Given the description of an element on the screen output the (x, y) to click on. 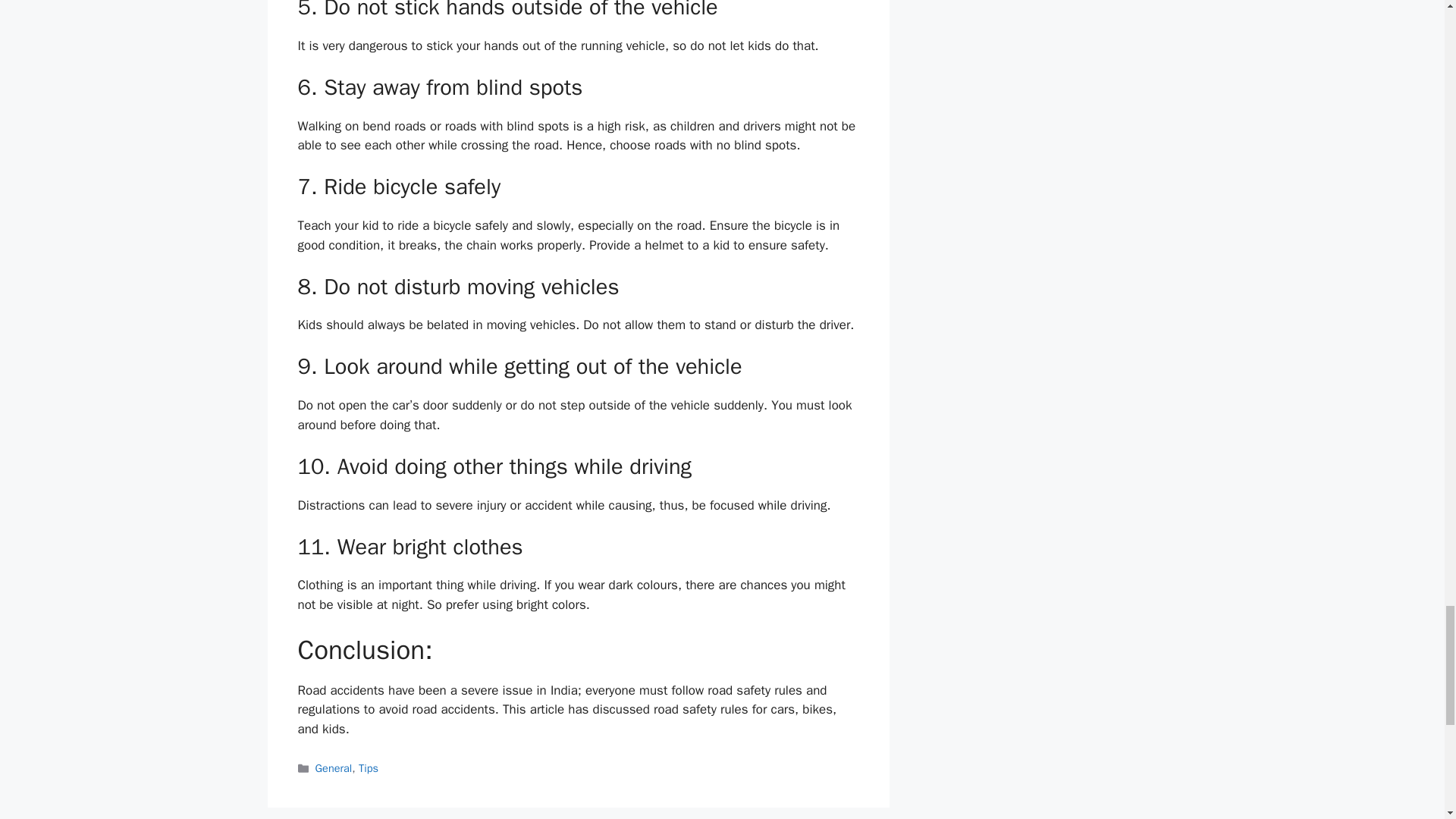
Tips (368, 767)
General (333, 767)
